Given the description of an element on the screen output the (x, y) to click on. 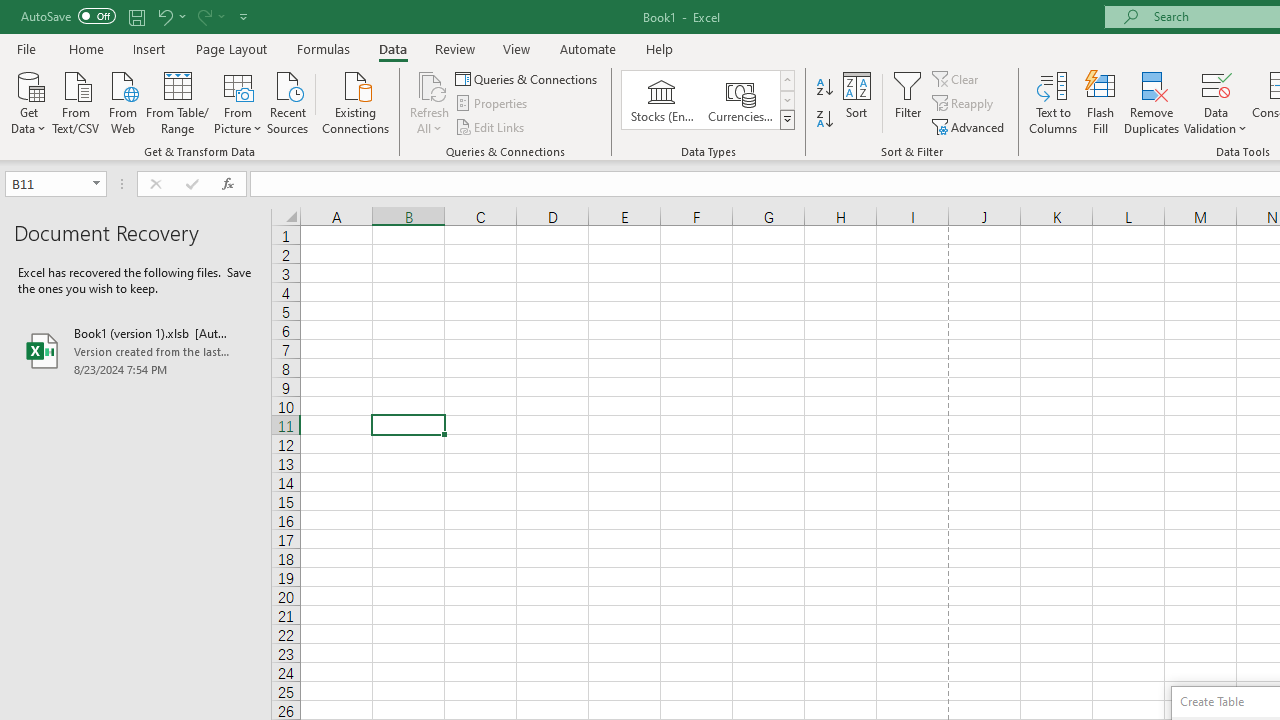
Sort A to Z (824, 87)
Sort Z to A (824, 119)
Currencies (English) (740, 100)
AutomationID: ConvertToLinkedEntity (708, 99)
Properties (492, 103)
